Given the description of an element on the screen output the (x, y) to click on. 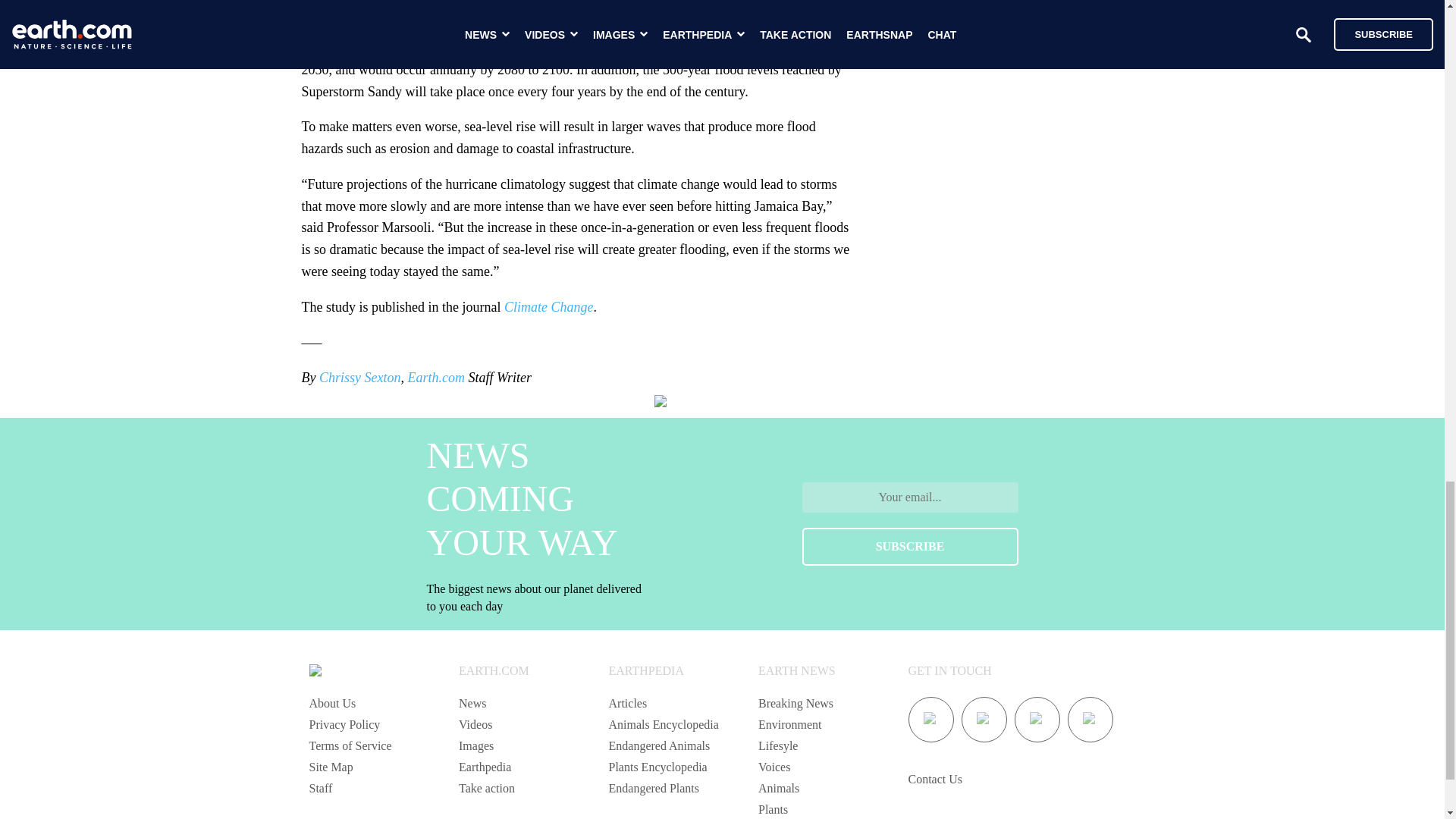
Climate Change (548, 306)
Chrissy Sexton (359, 377)
SUBSCRIBE (909, 546)
Earth.com (435, 377)
